Given the description of an element on the screen output the (x, y) to click on. 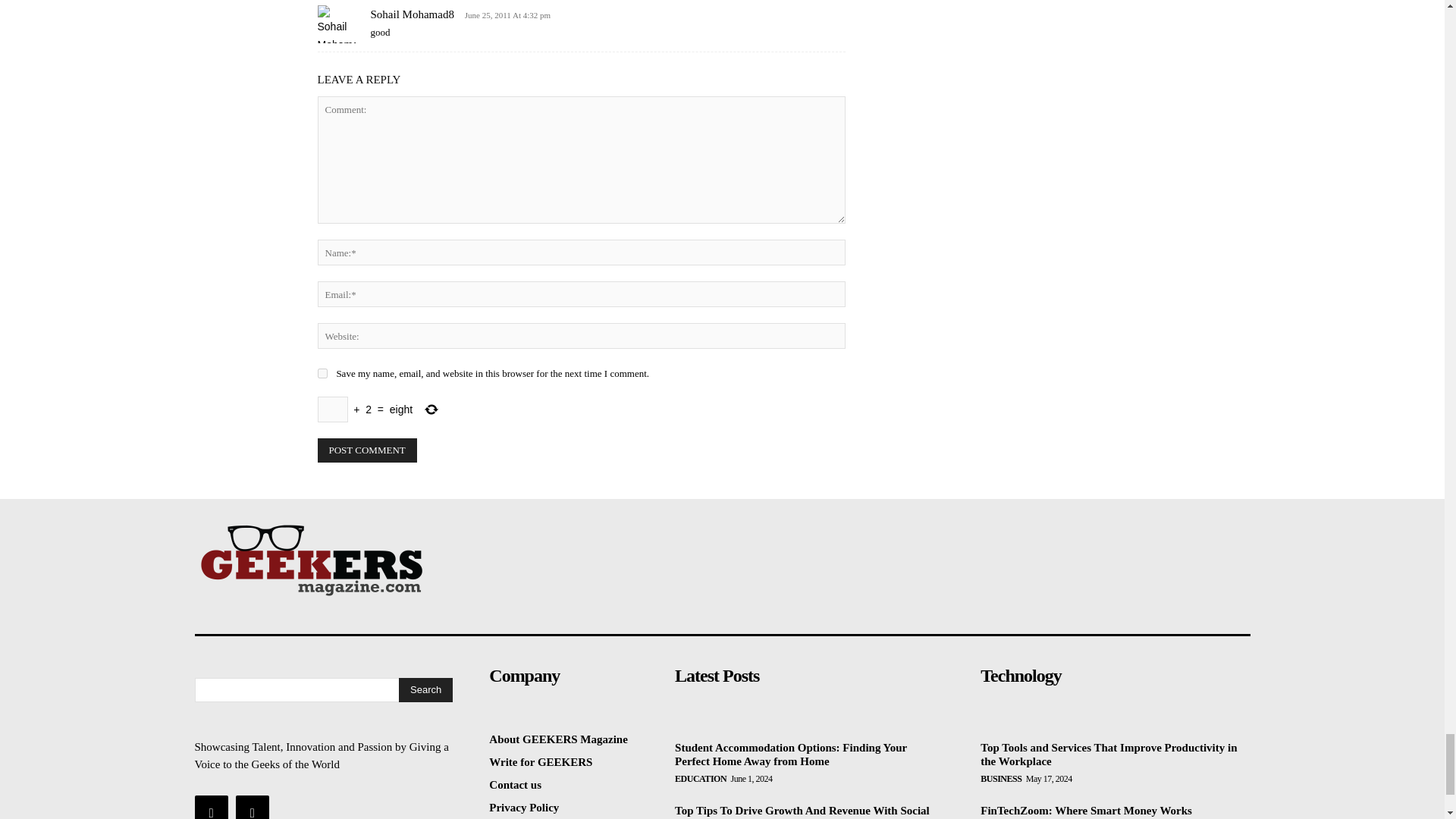
Post Comment (366, 450)
yes (321, 373)
